Given the description of an element on the screen output the (x, y) to click on. 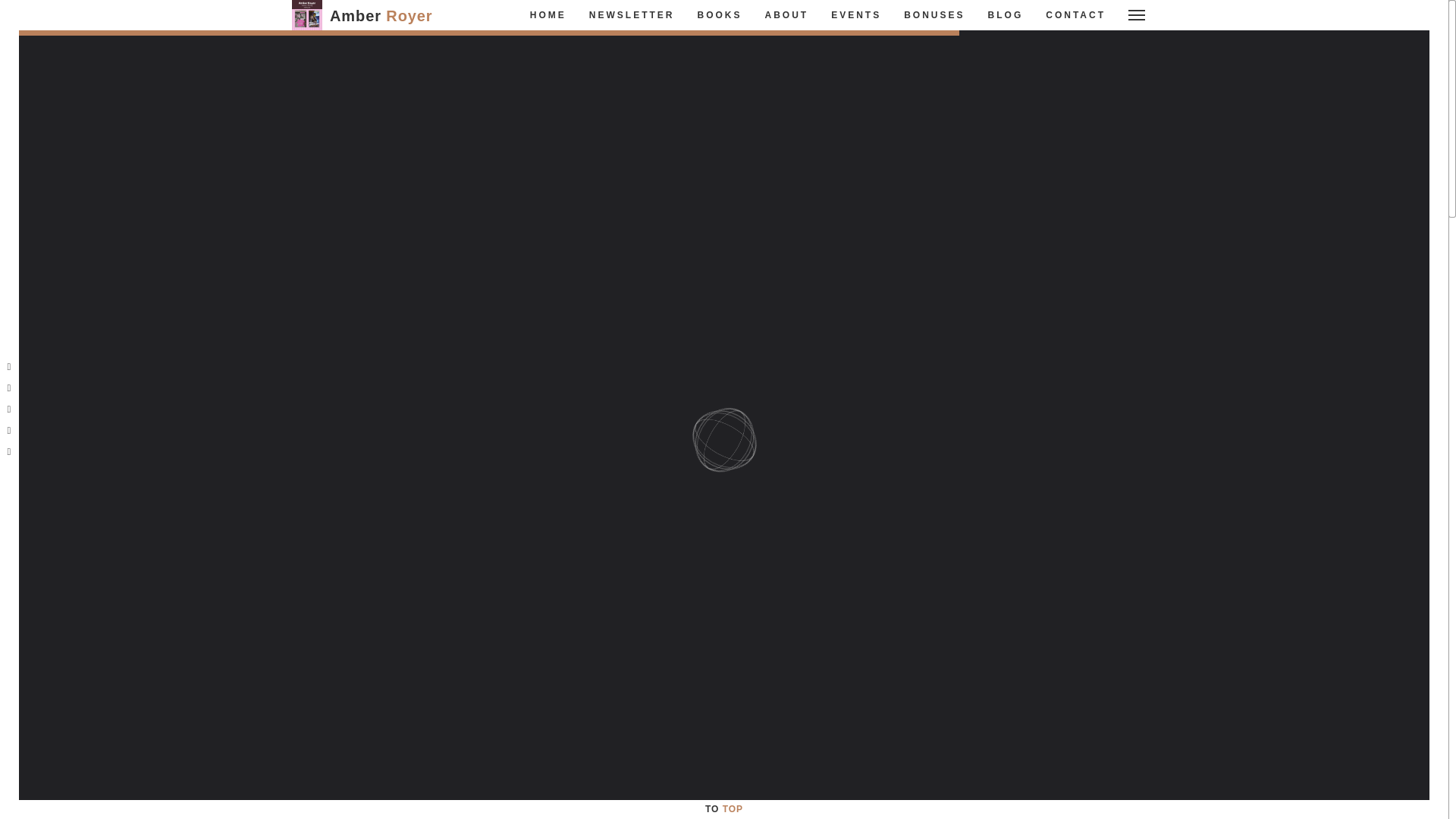
Foodie (383, 219)
ABOUT (787, 15)
View all posts in Foodie (383, 219)
CONTACT (373, 122)
BLOG (1075, 15)
View all posts in Roundups (1005, 15)
HOME (420, 219)
dandylyon85 (547, 15)
BOOKS (414, 191)
View all posts by dandylyon85 (719, 15)
NEWSLETTER (414, 191)
TO TOP (632, 15)
BONUSES (723, 808)
No Comments (933, 15)
